Given the description of an element on the screen output the (x, y) to click on. 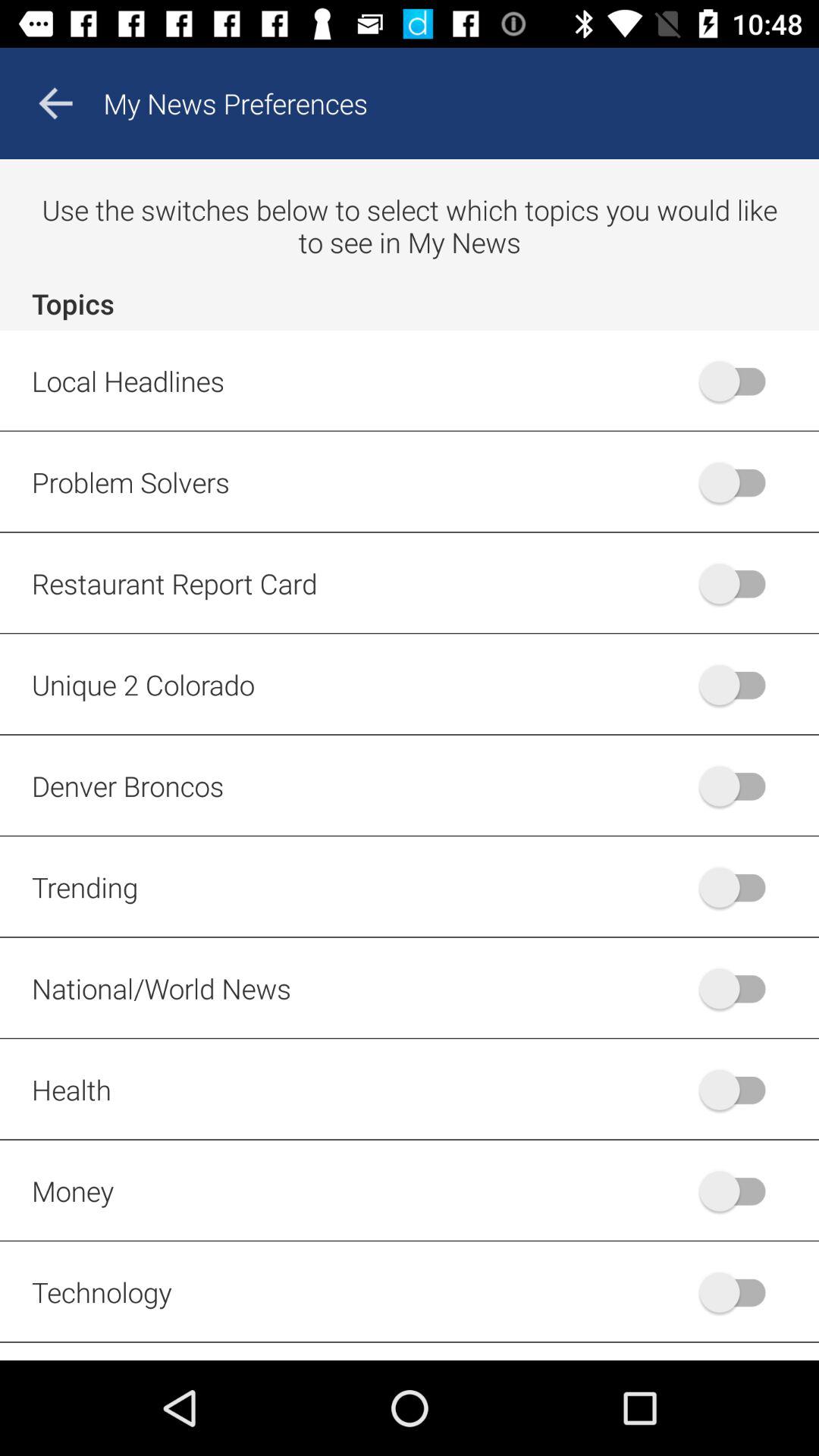
click on arrow icon beside my news preferences (56, 103)
first radio button right to local headlines (739, 380)
click on the button right to denver broncos (739, 785)
click on the switch button which is beside text problem solvers (739, 481)
click on the switch button which is to the right of restaurant report card (739, 582)
select the radio button (739, 1190)
